Given the description of an element on the screen output the (x, y) to click on. 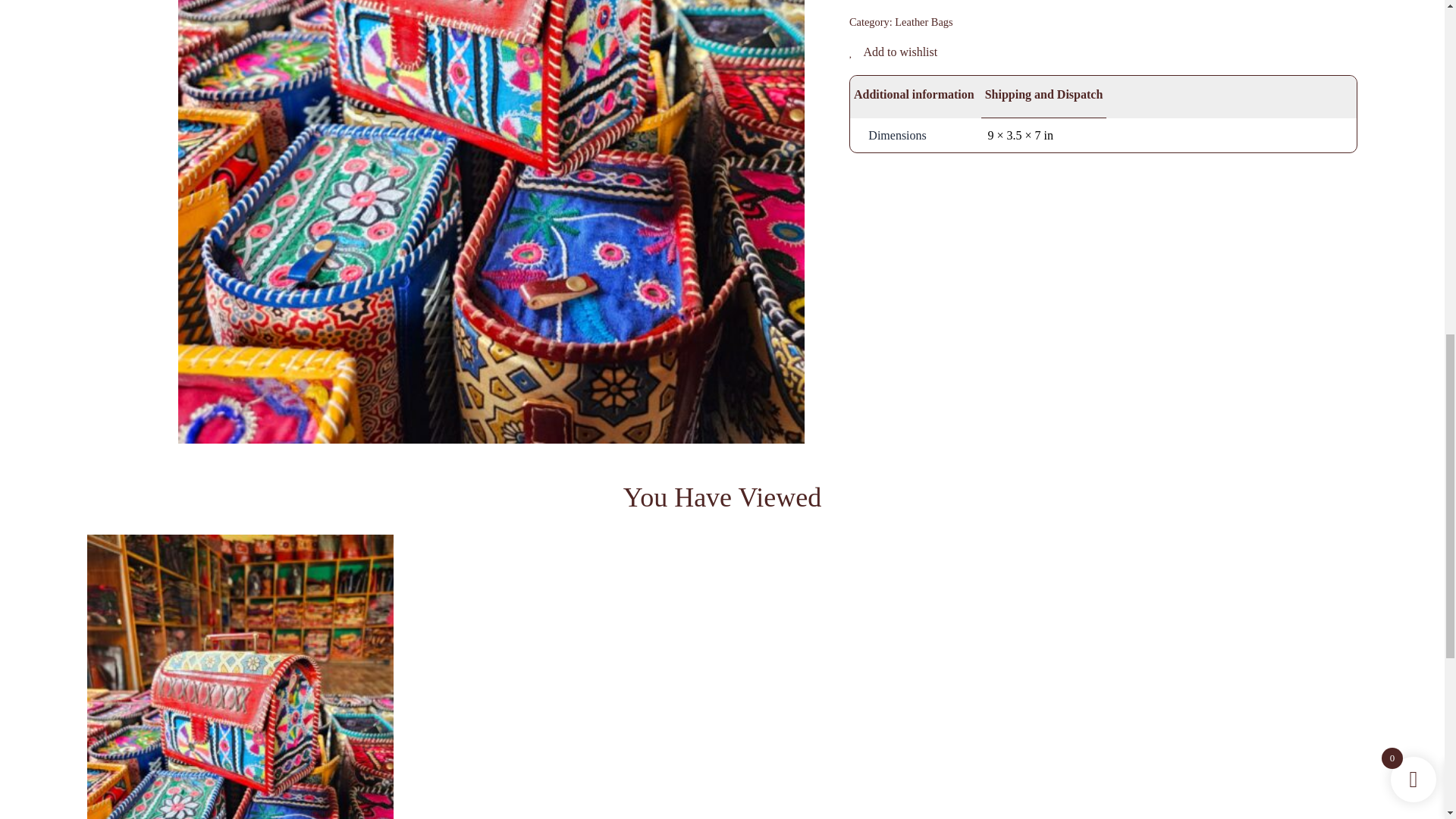
Additional information (914, 96)
Leather Bags (923, 21)
Add to wishlist (892, 51)
Shipping and Dispatch (1043, 96)
